Given the description of an element on the screen output the (x, y) to click on. 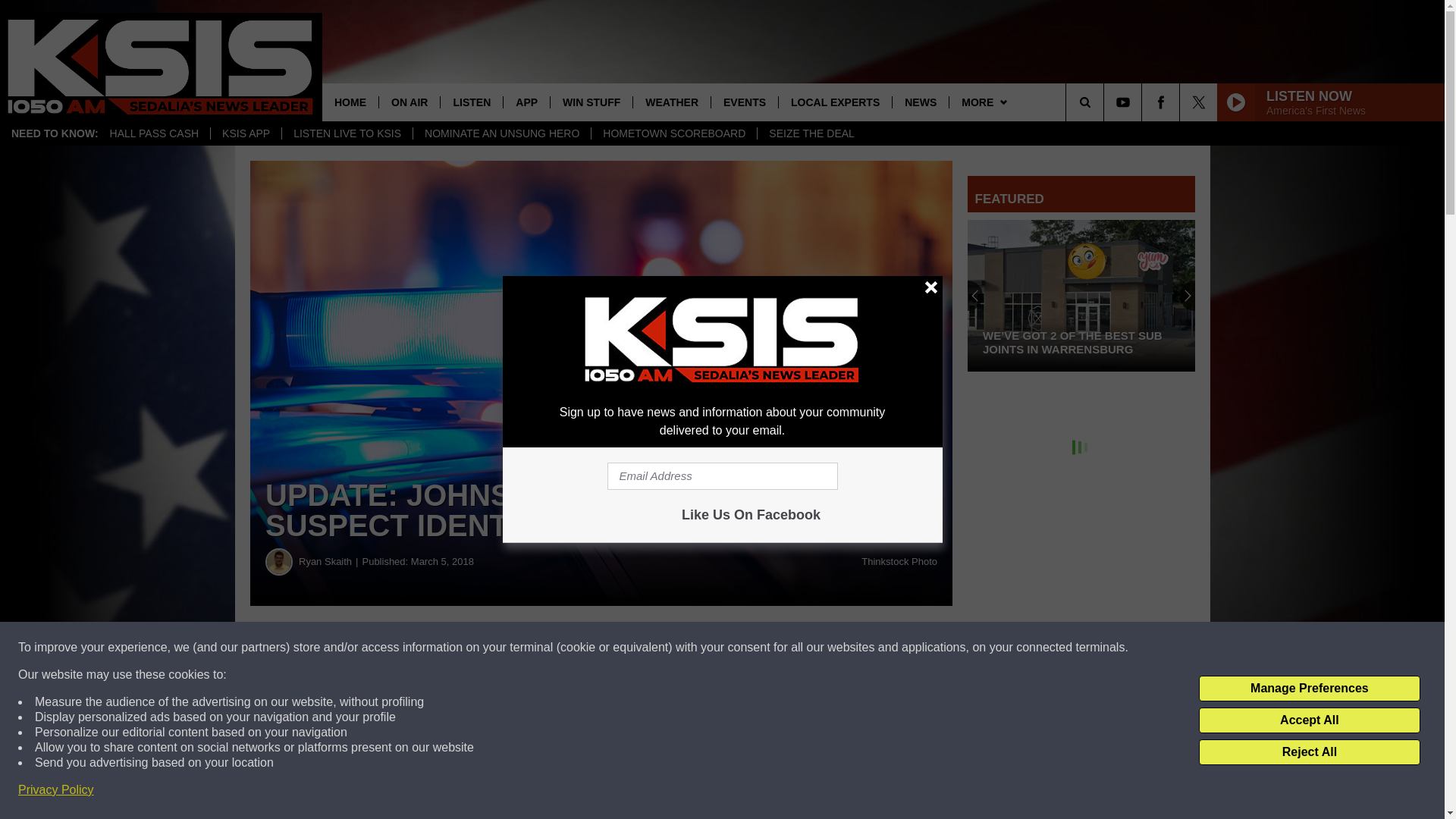
Privacy Policy (55, 789)
WEATHER (670, 102)
SEARCH (1106, 102)
Share on Twitter (741, 647)
KSIS APP (245, 133)
Email Address (722, 475)
HOME (349, 102)
NEWS (920, 102)
LISTEN (470, 102)
WIN STUFF (590, 102)
EVENTS (743, 102)
Manage Preferences (1309, 688)
Reject All (1309, 751)
Accept All (1309, 720)
SEIZE THE DEAL (811, 133)
